Given the description of an element on the screen output the (x, y) to click on. 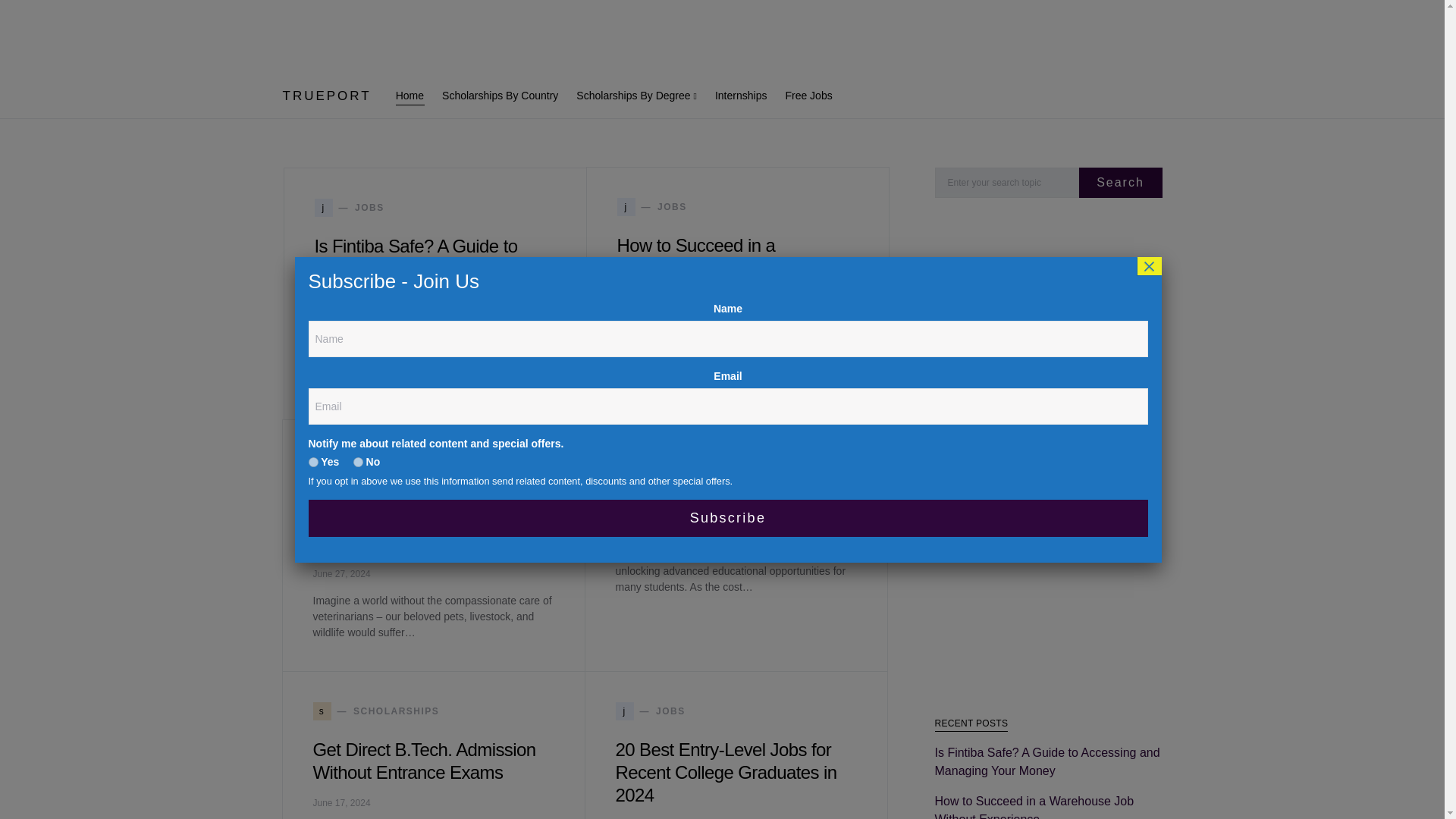
Advertisement (376, 459)
Graduate Degree Scholarships (652, 207)
Scholarships By Country (1047, 455)
Internships (734, 497)
Scholarships By Degree (499, 94)
no (741, 94)
Home (636, 94)
Free Jobs (357, 461)
Advertisement (414, 94)
Get Direct B.Tech. Admission Without Entrance Exams (803, 94)
